Given the description of an element on the screen output the (x, y) to click on. 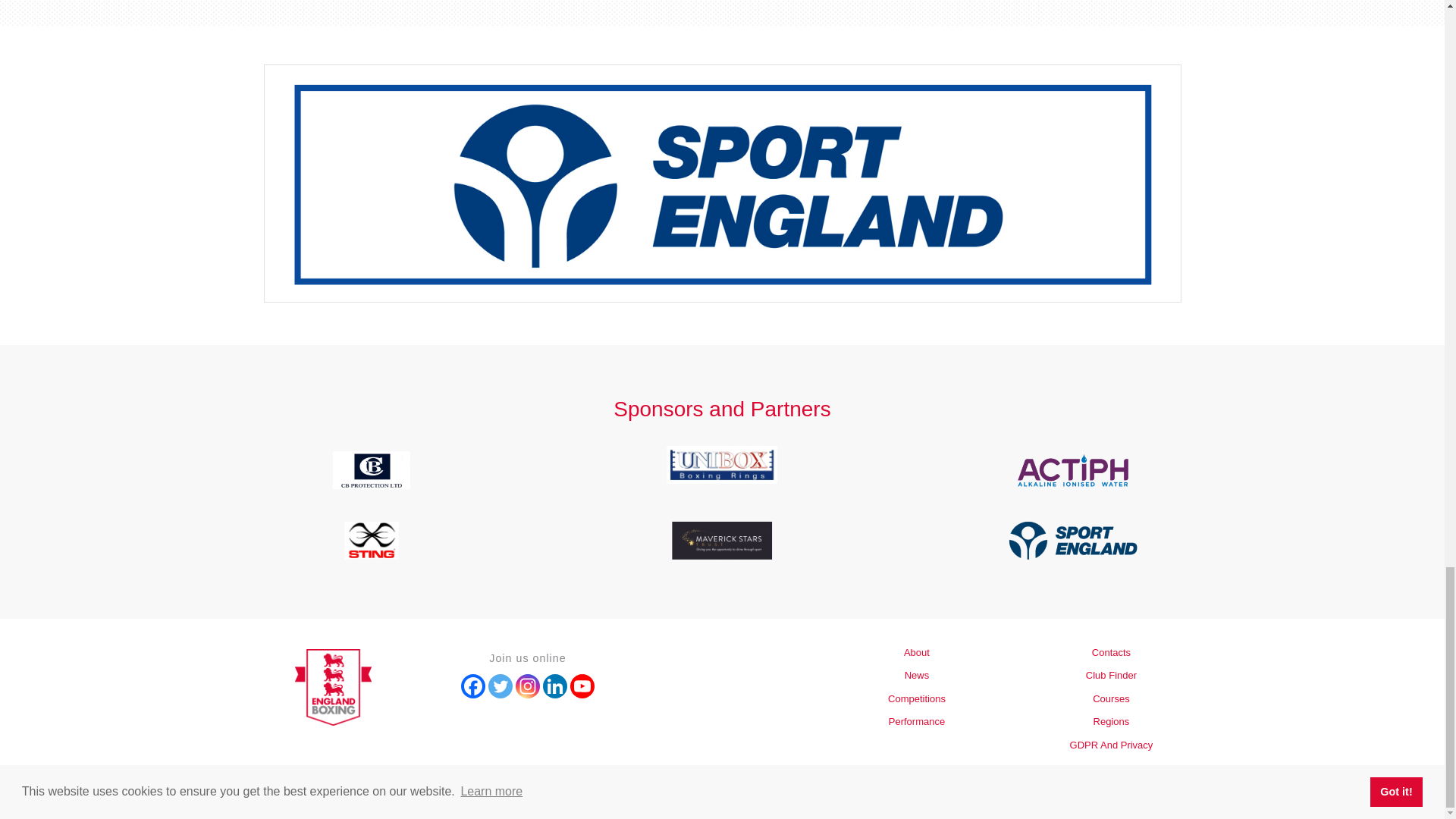
Twitter (499, 686)
Facebook (472, 686)
Instagram (527, 686)
